Given the description of an element on the screen output the (x, y) to click on. 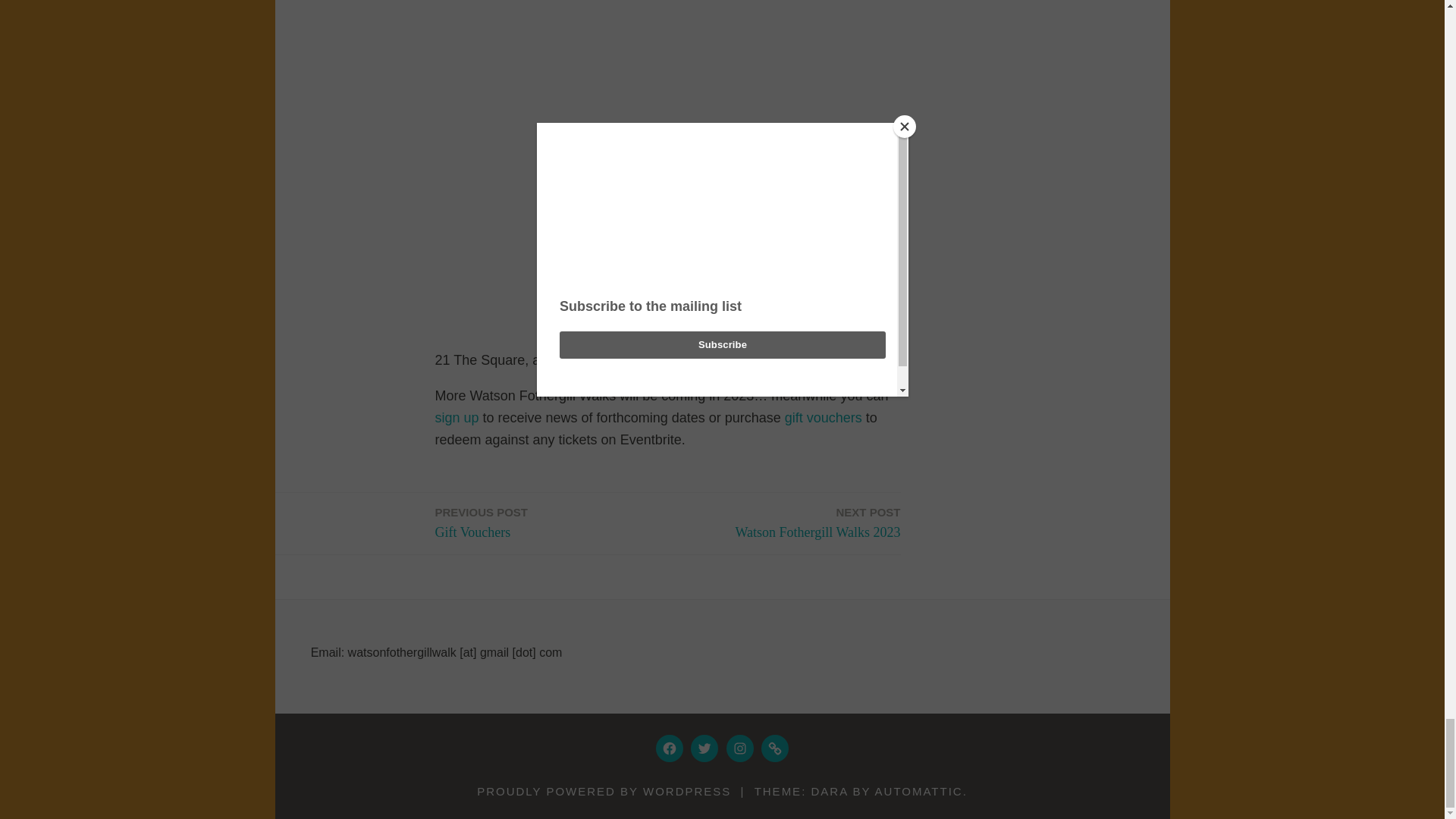
gift vouchers (822, 417)
sign up (457, 417)
